Given the description of an element on the screen output the (x, y) to click on. 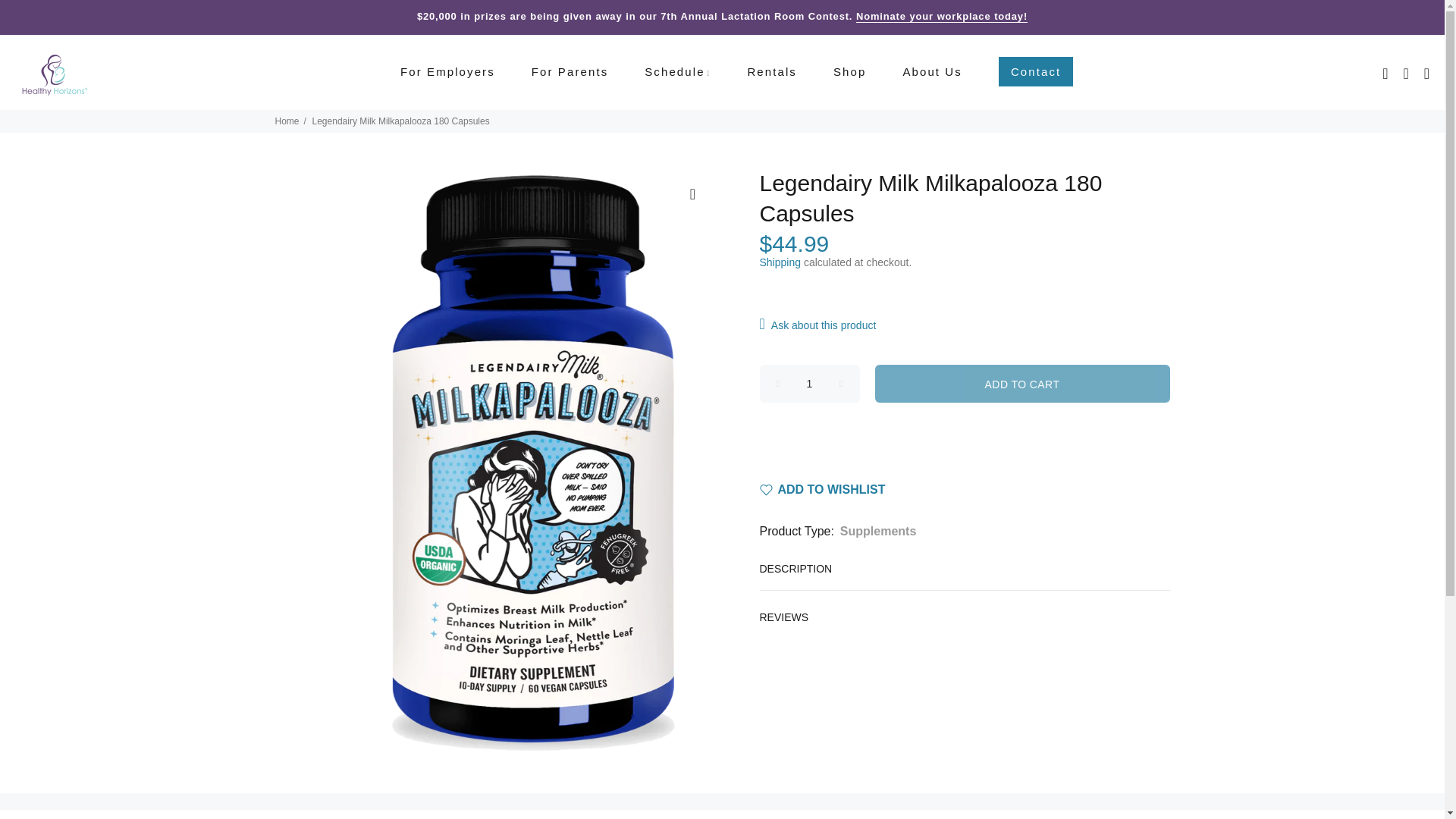
About Us (932, 72)
Schedule (676, 72)
Rentals (772, 72)
For Parents (569, 72)
Contact (1031, 72)
1 (810, 383)
For Employers (447, 72)
Shop (849, 72)
Nominate your workplace today! (941, 16)
